Given the description of an element on the screen output the (x, y) to click on. 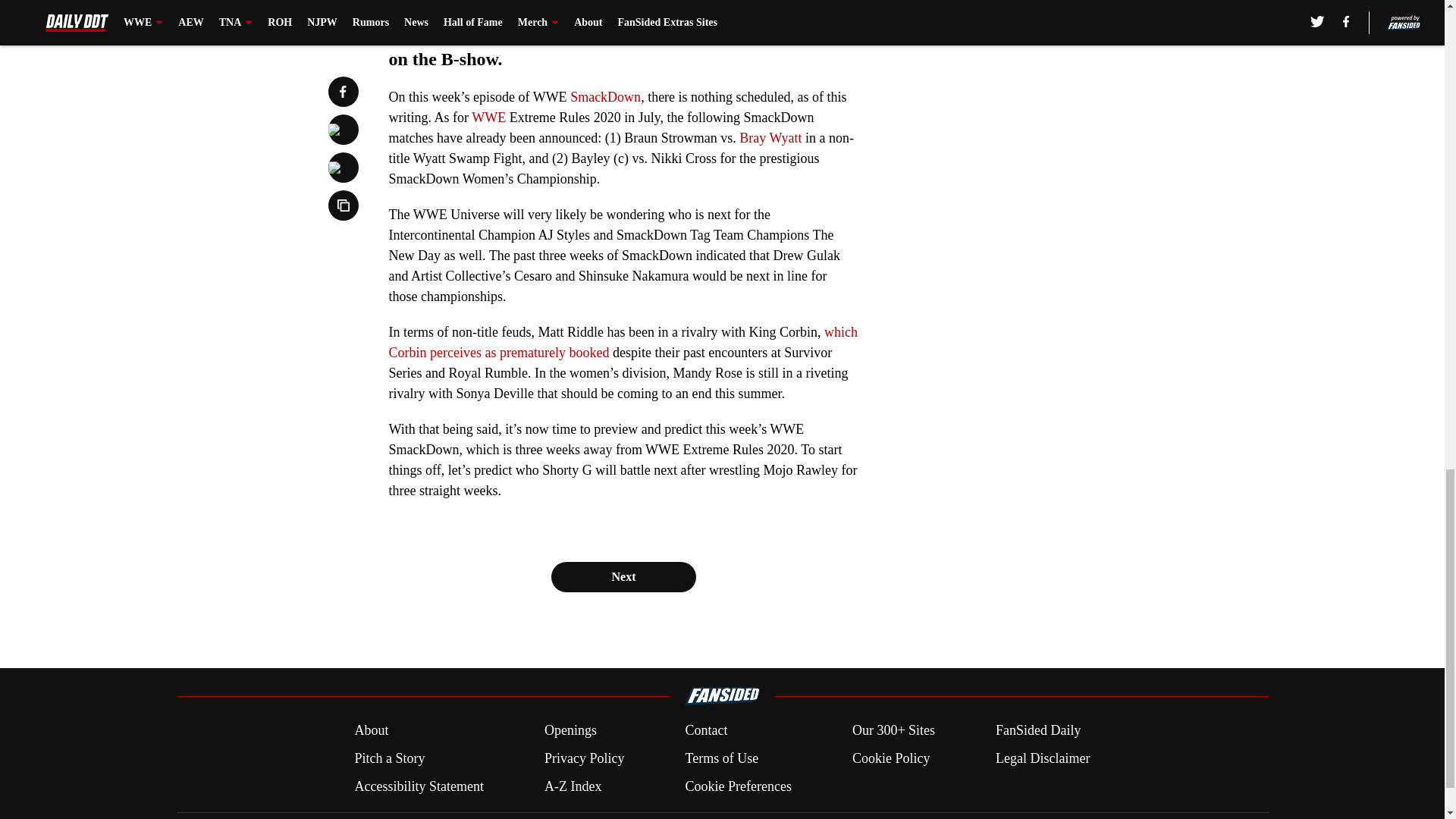
Bray Wyatt (770, 137)
SmackDown (605, 96)
WWE (488, 117)
which Corbin perceives as prematurely booked (622, 342)
Next (622, 576)
